Given the description of an element on the screen output the (x, y) to click on. 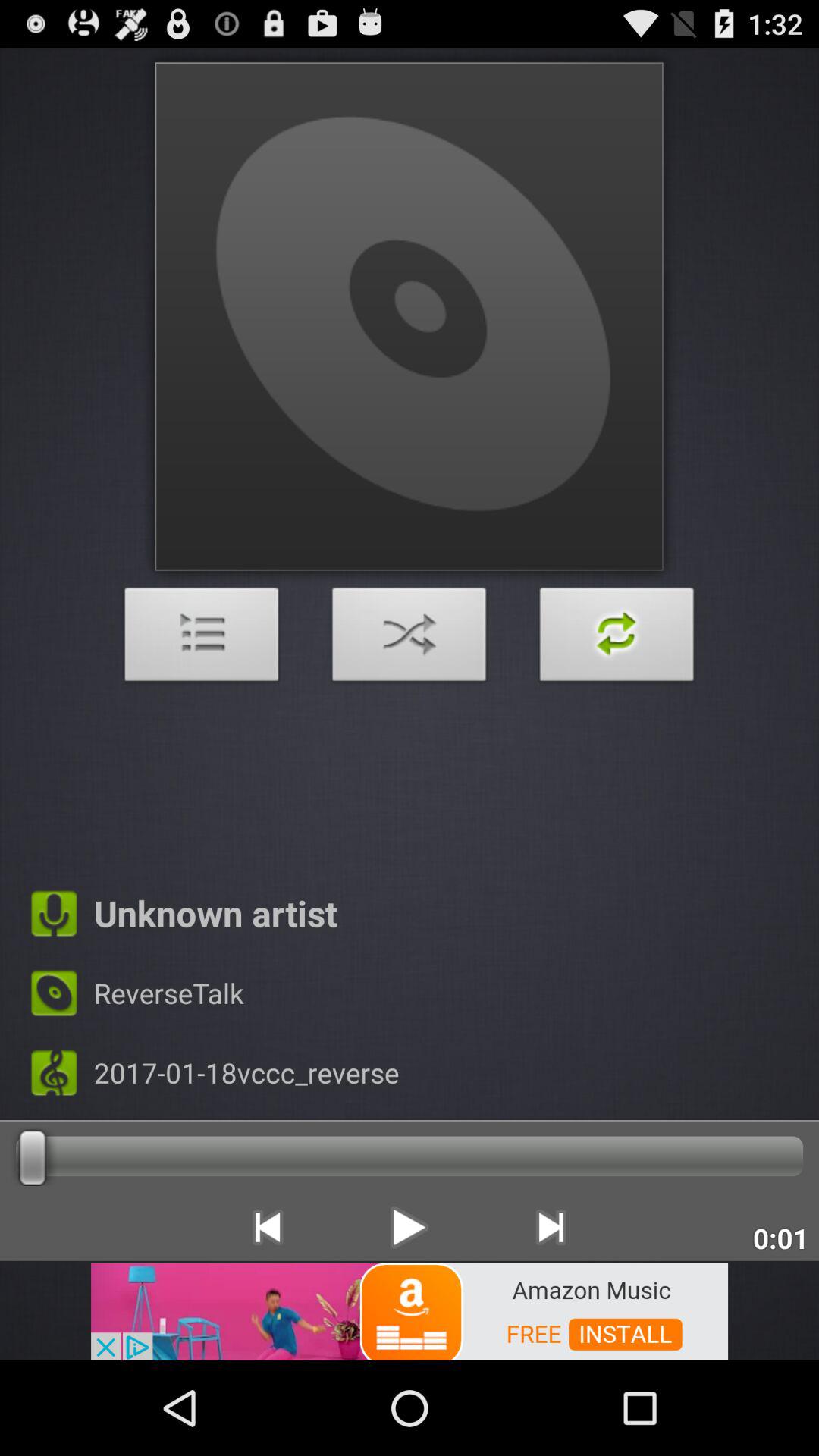
advertisement (409, 1310)
